Given the description of an element on the screen output the (x, y) to click on. 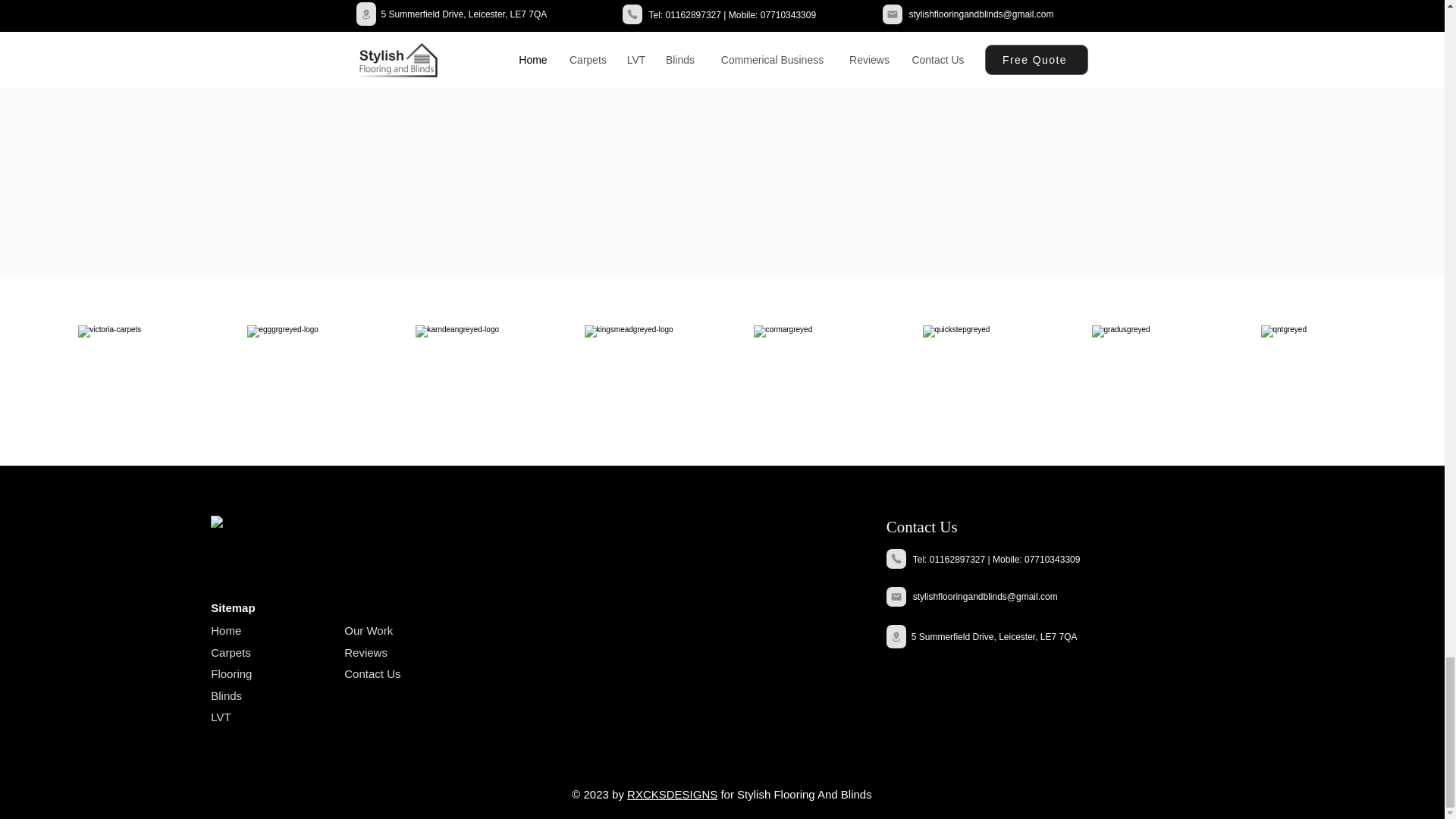
Contact Us (922, 526)
